Given the description of an element on the screen output the (x, y) to click on. 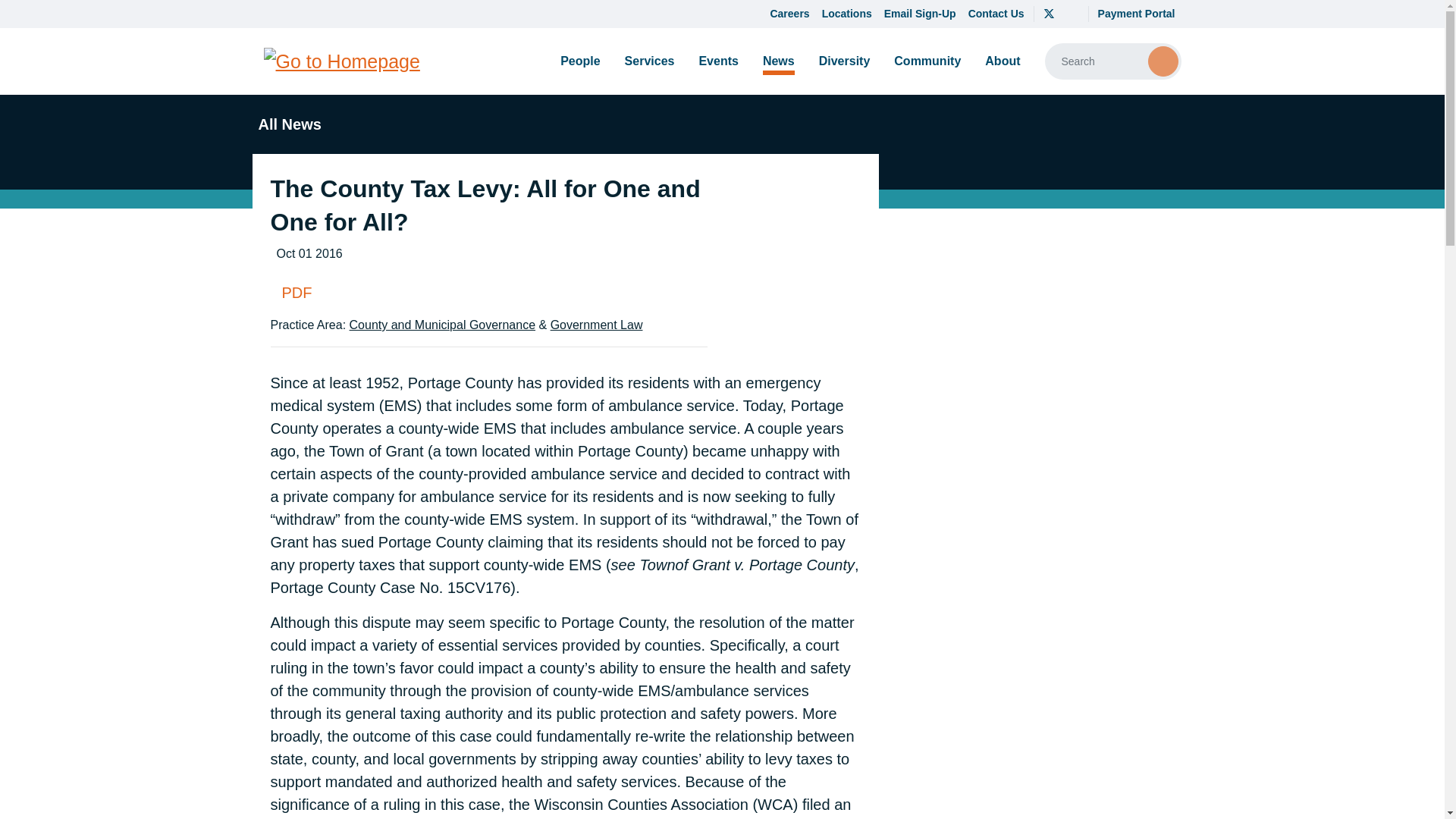
Community (927, 60)
Events (717, 60)
Diversity (844, 60)
PDF (488, 292)
Go to home page (341, 61)
County and Municipal Governance (442, 324)
All News (285, 124)
Search (1162, 60)
Payment Portal (1136, 13)
Locations (846, 13)
